Given the description of an element on the screen output the (x, y) to click on. 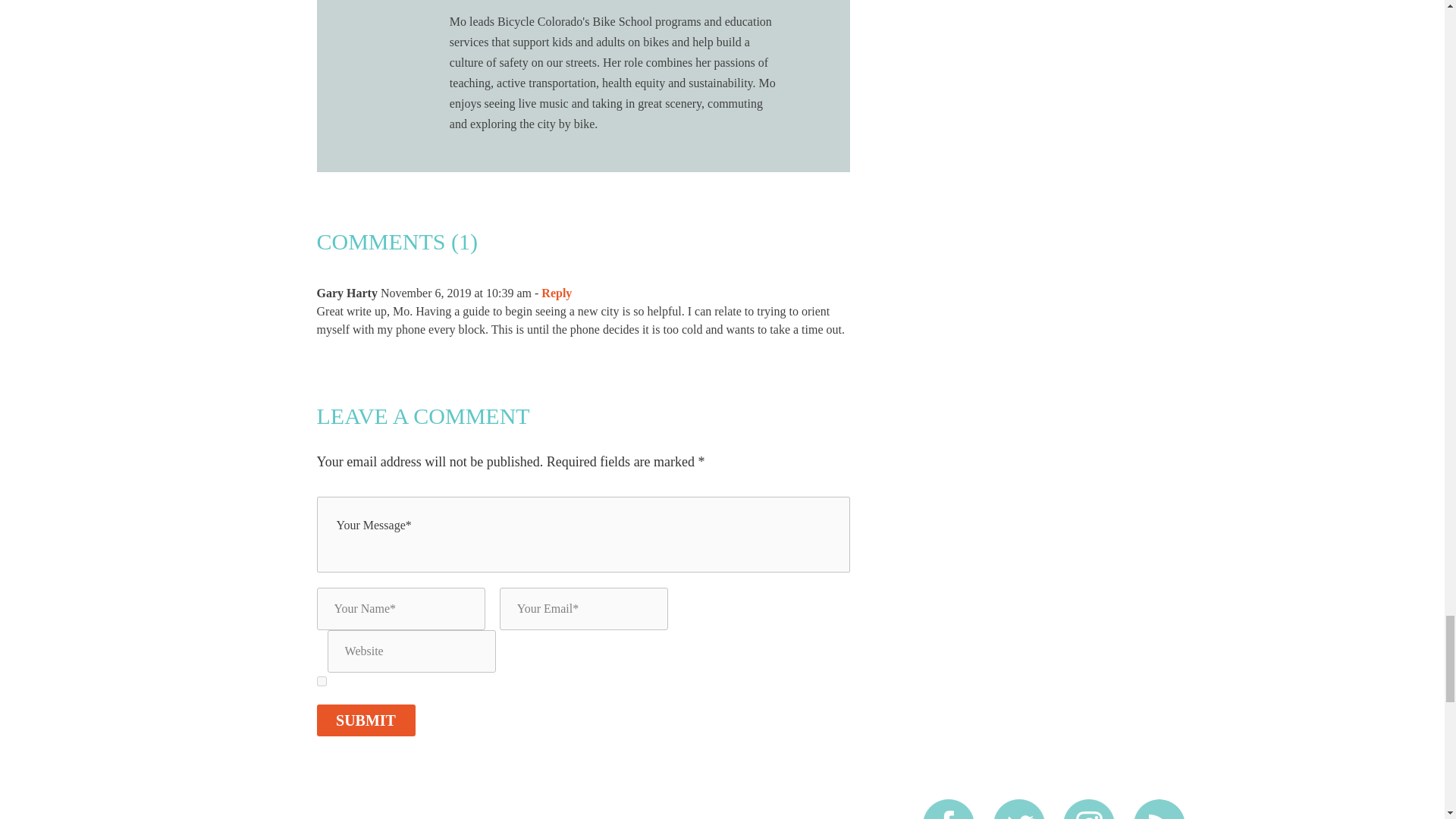
Submit (365, 720)
yes (321, 681)
